Given the description of an element on the screen output the (x, y) to click on. 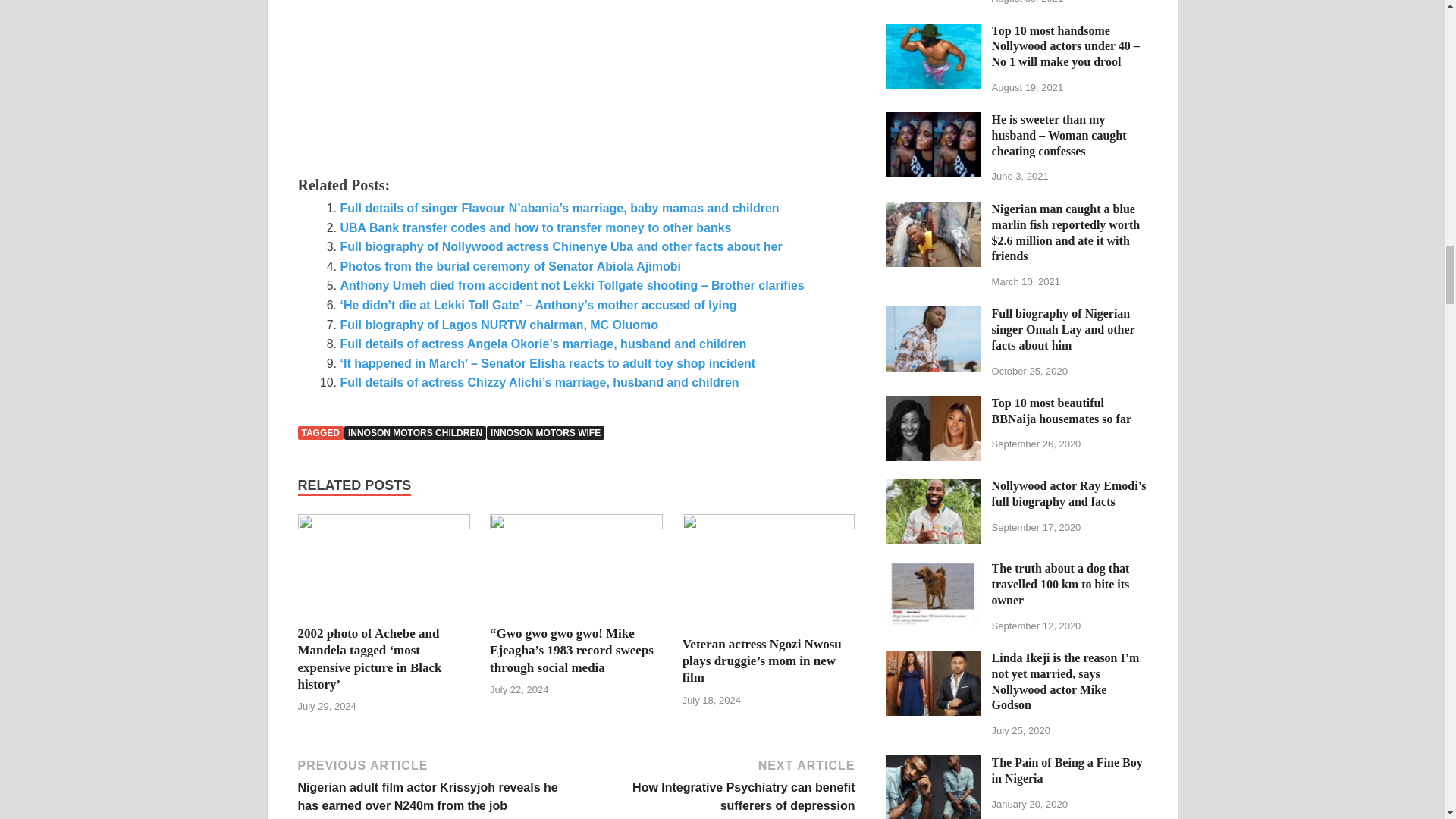
Full biography of Lagos NURTW chairman, MC Oluomo (498, 324)
Photos from the burial ceremony of Senator Abiola Ajimobi (510, 266)
